Given the description of an element on the screen output the (x, y) to click on. 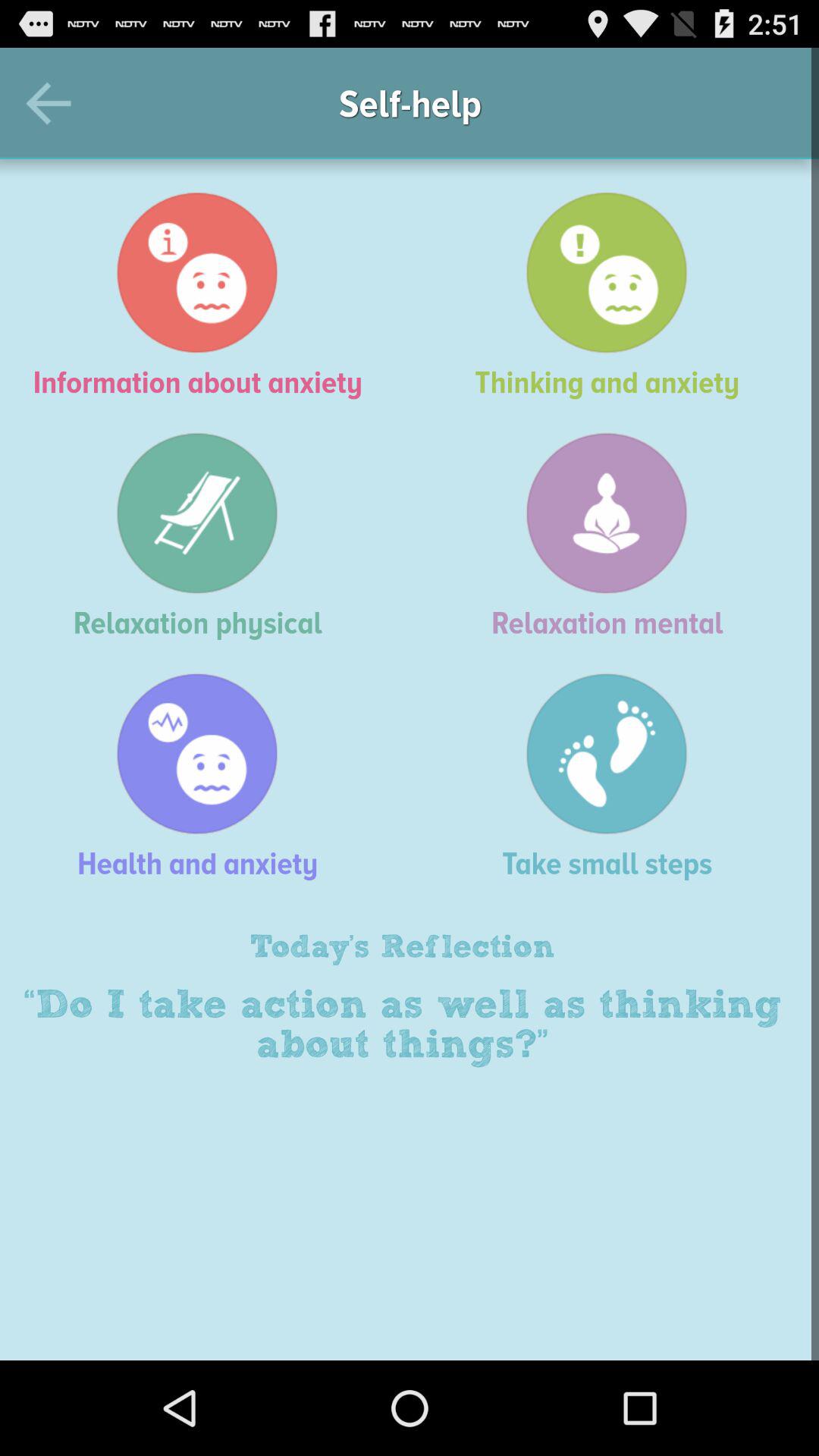
swipe to relaxation mental (614, 535)
